Given the description of an element on the screen output the (x, y) to click on. 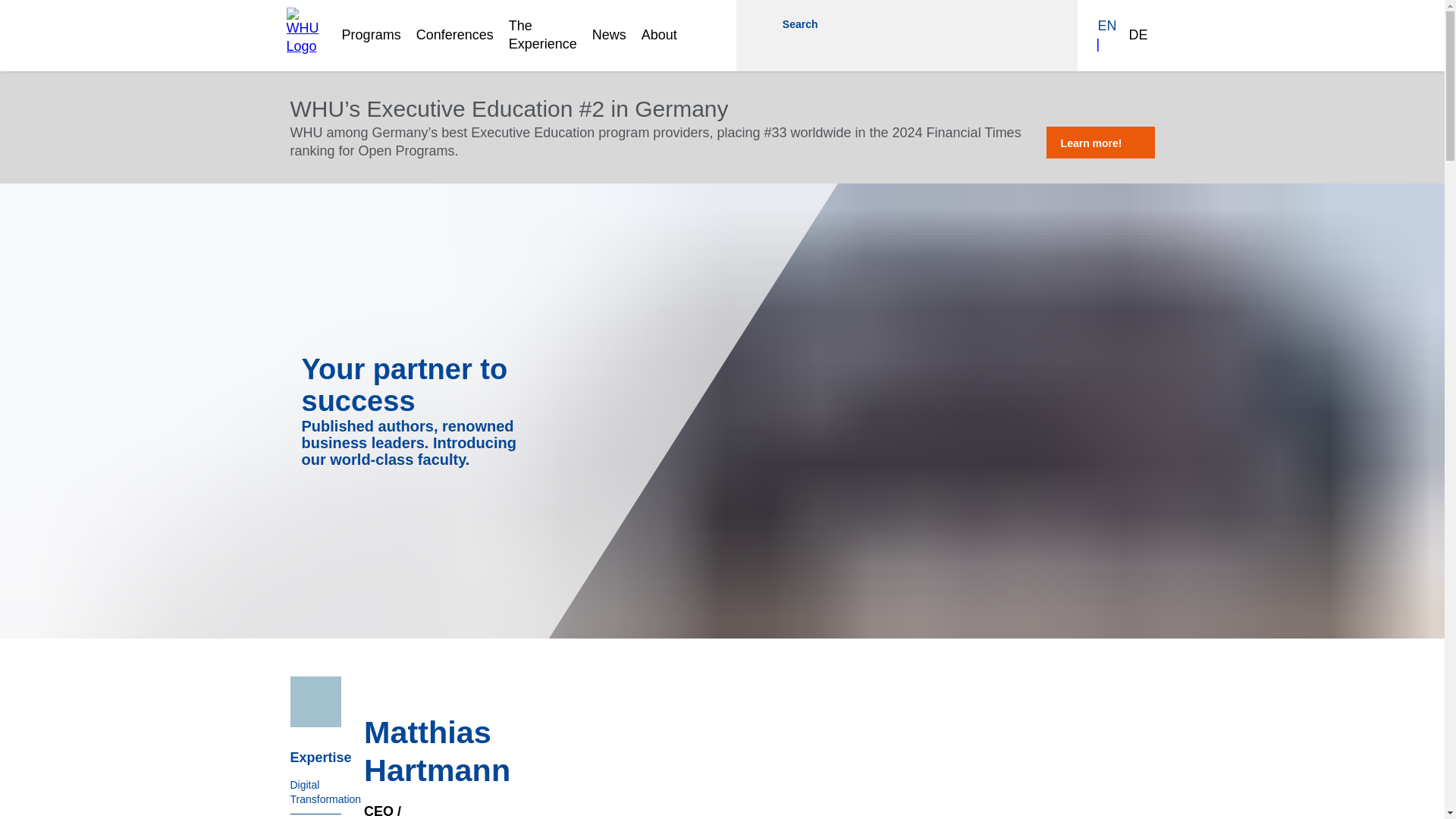
The Experience (542, 35)
EN (1107, 26)
DE (1140, 35)
Conferences (454, 35)
Search (809, 22)
